Given the description of an element on the screen output the (x, y) to click on. 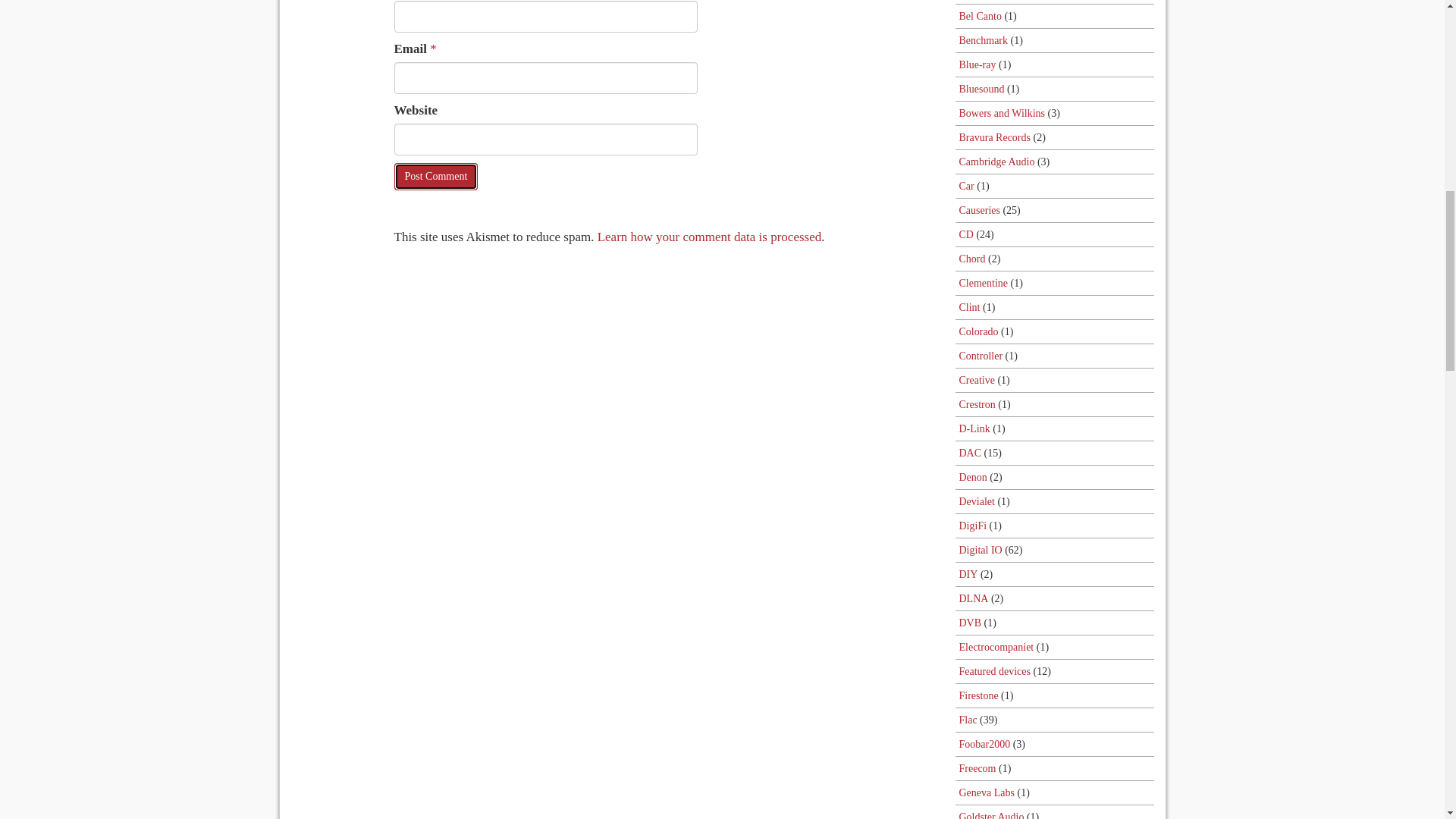
Bluesound (981, 88)
Post Comment (436, 176)
Post Comment (436, 176)
Benchmark (982, 40)
Bowers and Wilkins (1001, 113)
Bel Canto (979, 16)
Bravura Records (993, 137)
Blue-ray (976, 64)
Learn how your comment data is processed (709, 237)
